Given the description of an element on the screen output the (x, y) to click on. 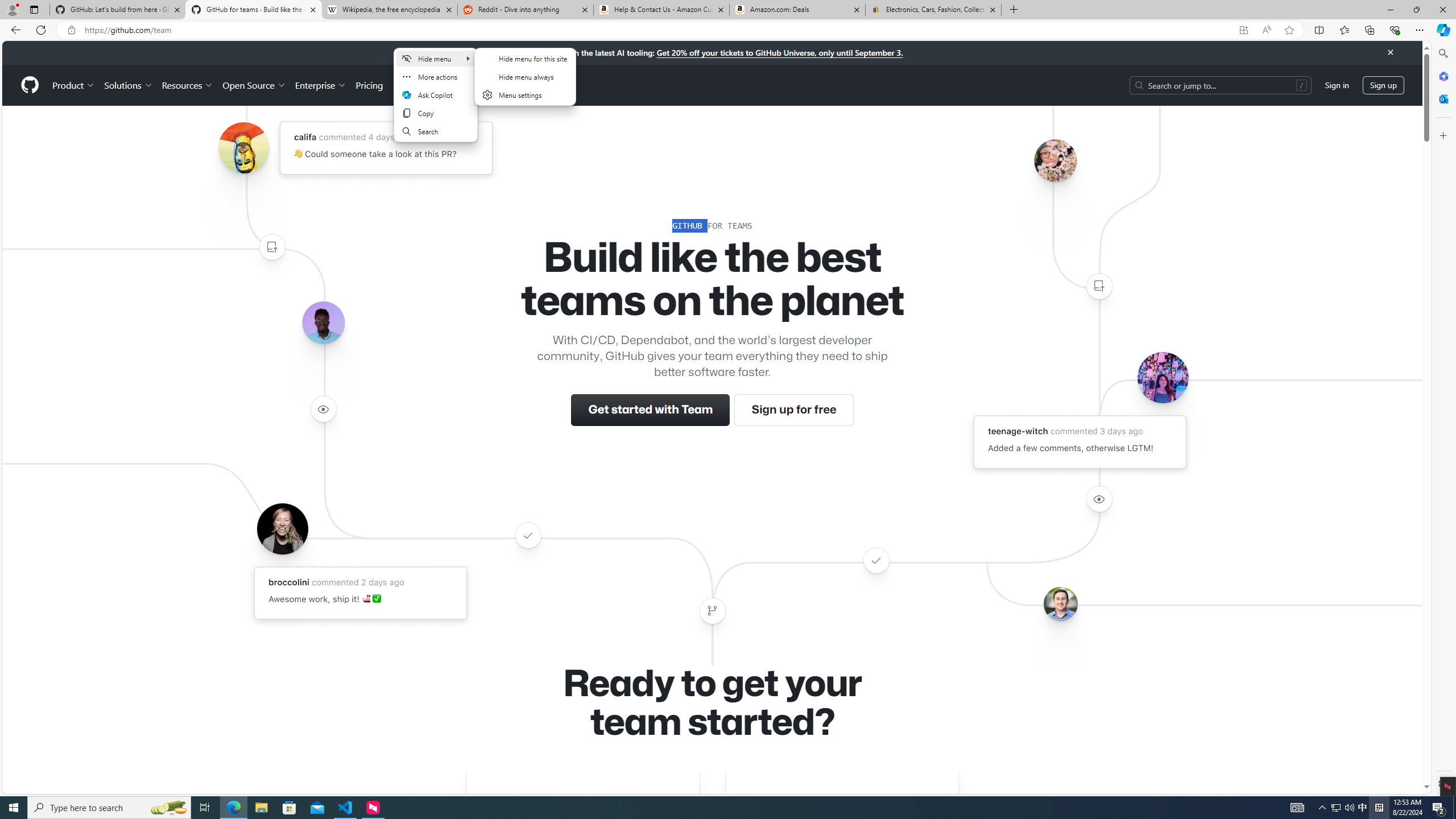
Wikipedia, the free encyclopedia (390, 9)
Hide menu (435, 58)
Sign up for free (793, 409)
Menu settings (524, 94)
Open Source (254, 84)
Product (74, 84)
